Given the description of an element on the screen output the (x, y) to click on. 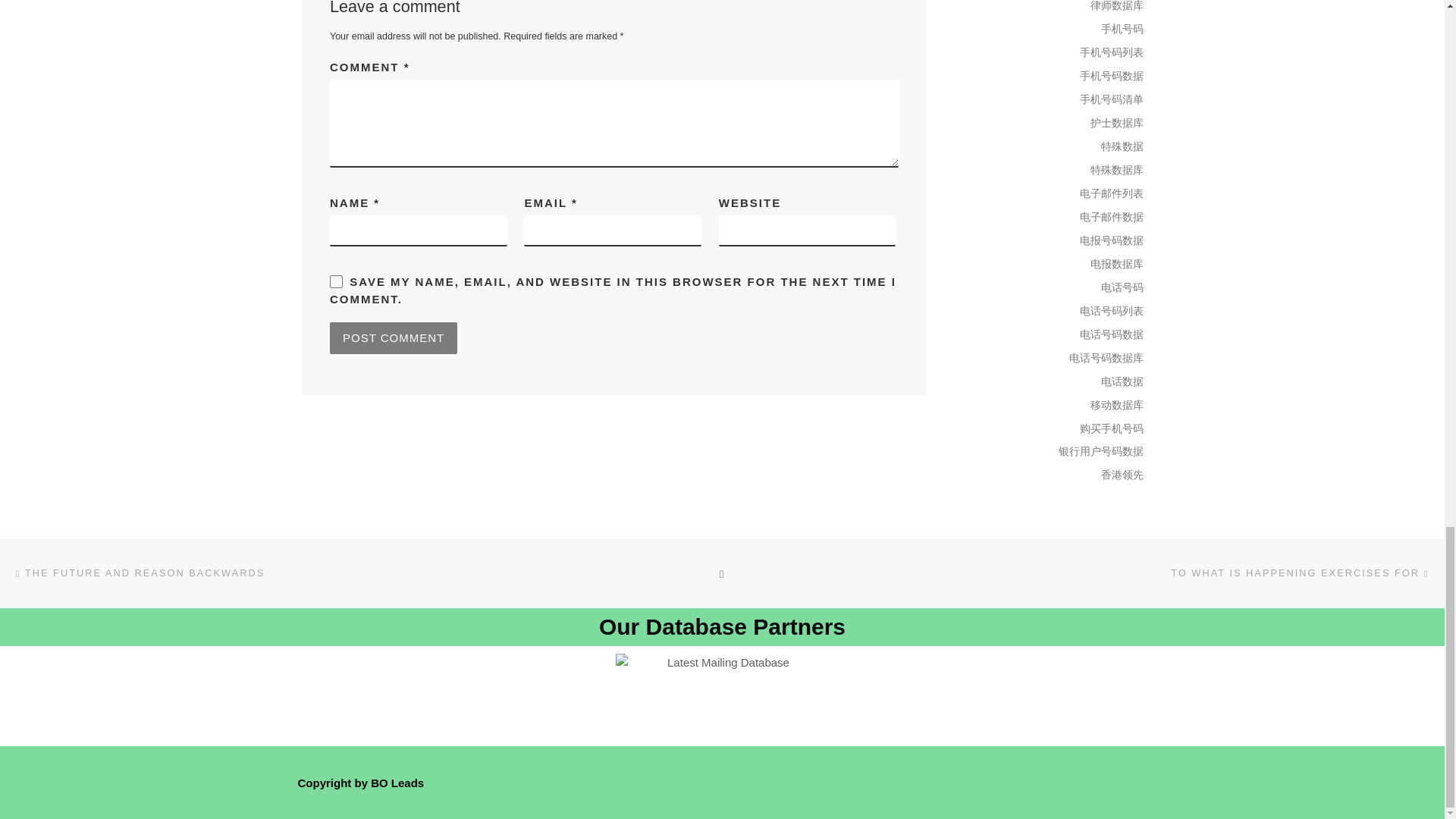
yes (336, 281)
Post Comment (393, 337)
